Given the description of an element on the screen output the (x, y) to click on. 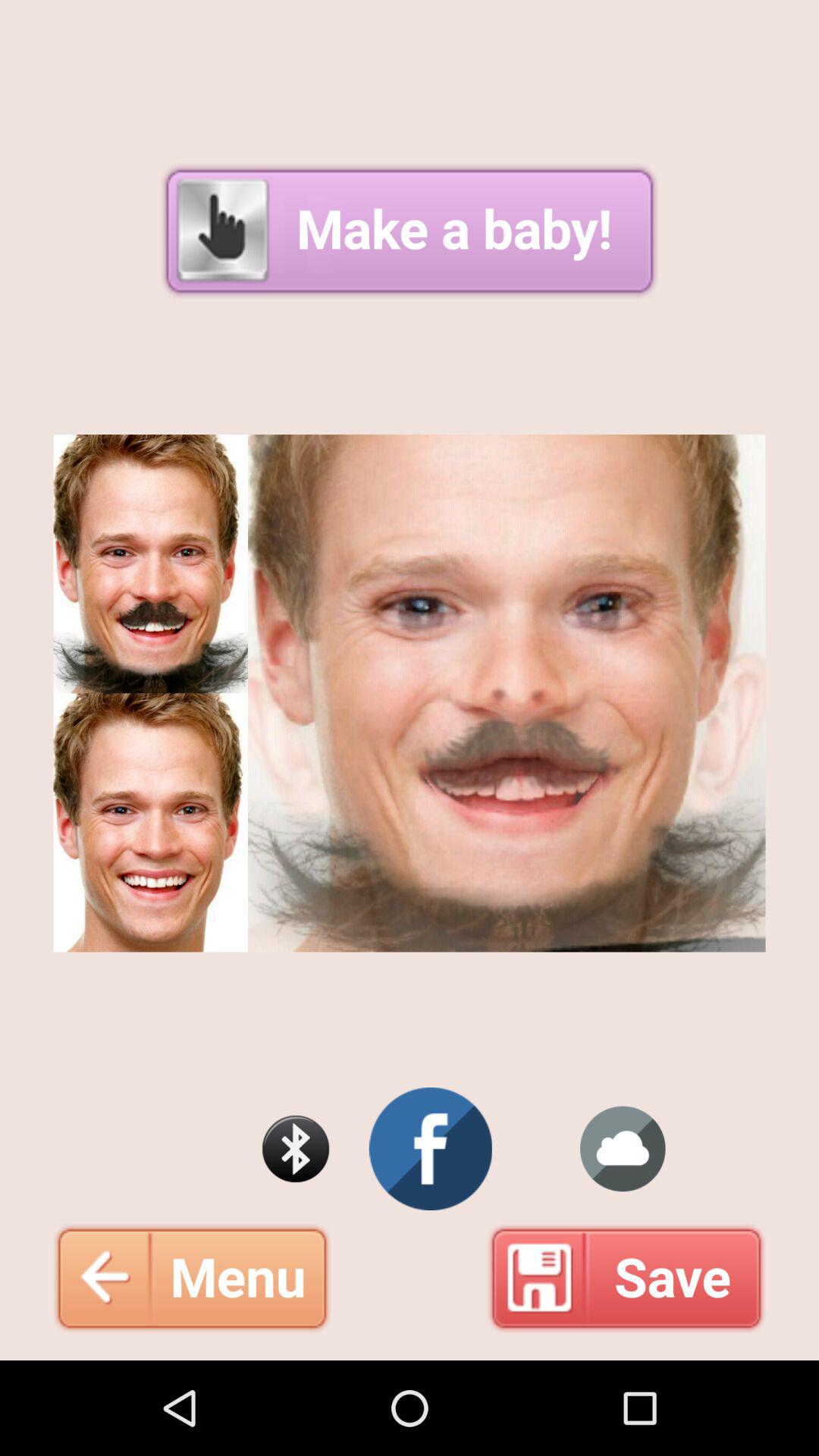
jump until the save (626, 1278)
